Given the description of an element on the screen output the (x, y) to click on. 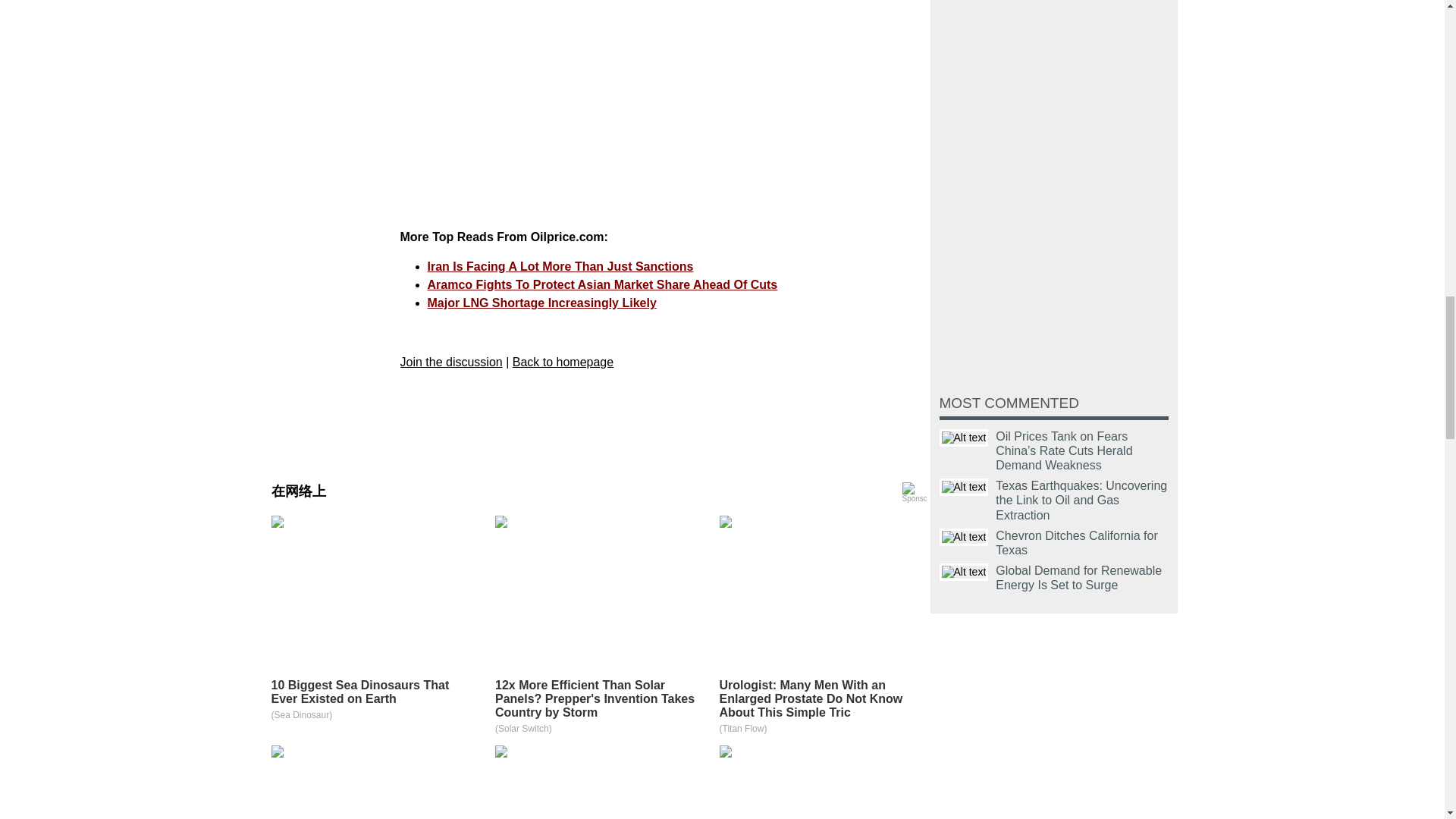
Title text (963, 571)
Title text (963, 537)
Title text (963, 487)
Title text (963, 437)
